Given the description of an element on the screen output the (x, y) to click on. 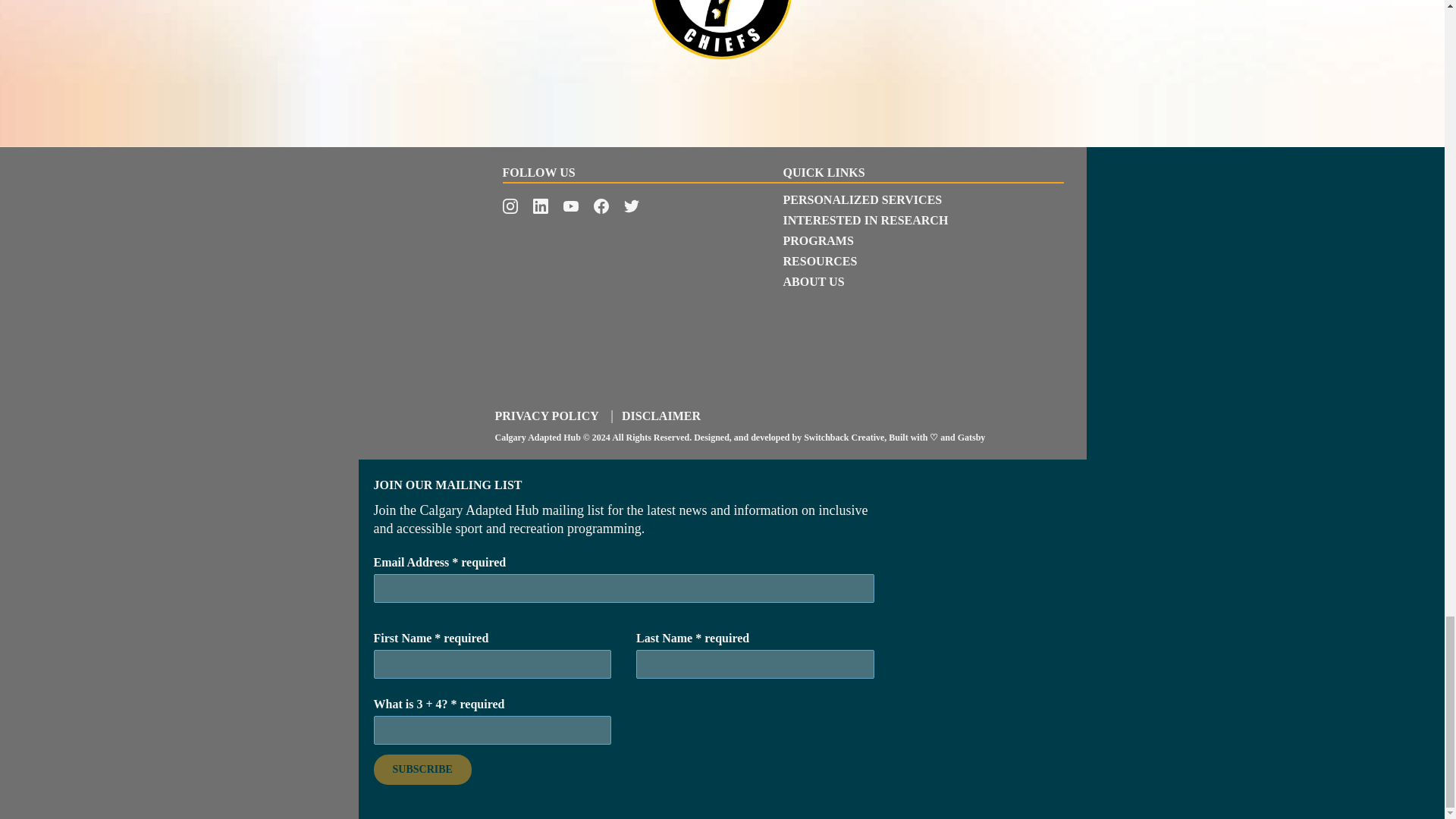
Follow us on Facebook - Link will open in new window (600, 206)
Follow us on Twitter - Link will open in new window (631, 206)
Switchback Creative - Link will open in new window (843, 437)
Follow us on Instagram - Link will open in new window (509, 206)
Gatsby JS - Link will open in new window (971, 437)
Follow us on Youtube - Link will open in new window (570, 206)
Follow us on Linkedin - Link will open in new window (539, 206)
